Given the description of an element on the screen output the (x, y) to click on. 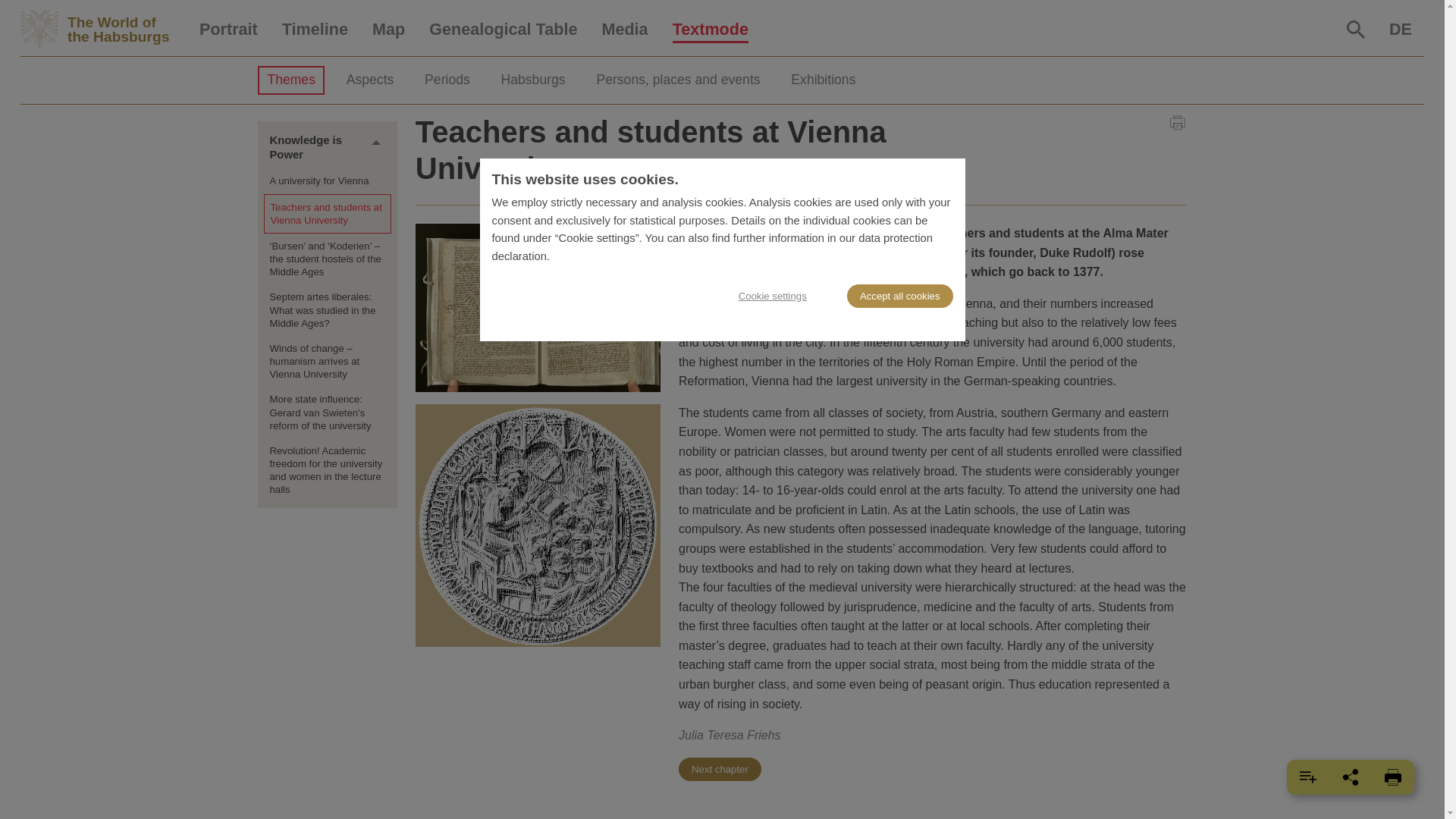
DE (1400, 29)
Media (624, 29)
Timeline (314, 29)
search (1355, 29)
Map (387, 29)
Toggle menu (376, 142)
Portrait (228, 29)
Genealogical Table (502, 29)
Die Welt der Habsburger Home (103, 29)
Textmode (103, 29)
search (710, 29)
